Given the description of an element on the screen output the (x, y) to click on. 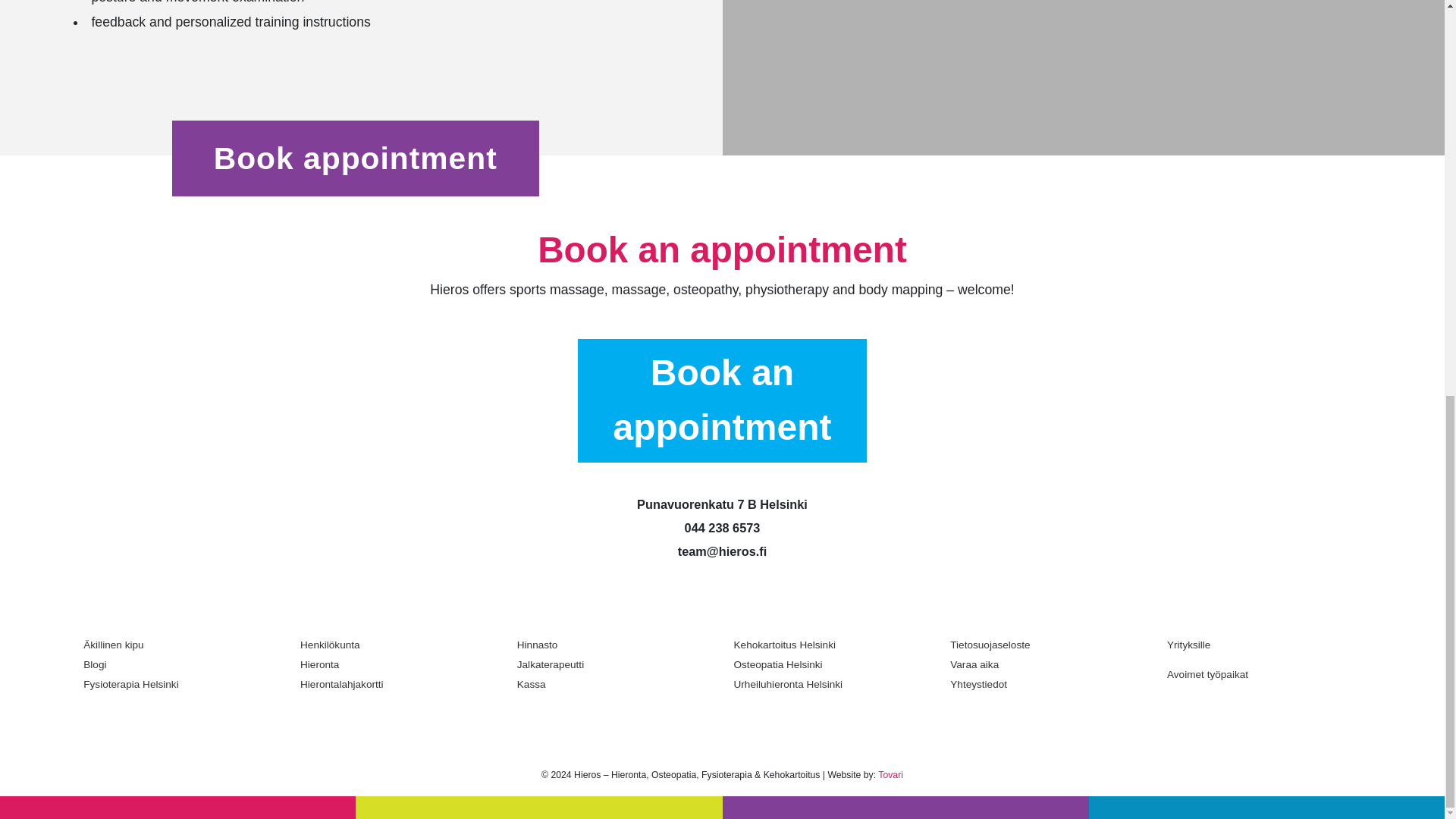
Fysioterapia Helsinki (180, 684)
Kassa (613, 684)
Varaa aika (1047, 664)
Osteopatia Helsinki (830, 664)
Yrityksille (1264, 650)
Tietosuojaseloste (1047, 645)
Yhteystiedot (1047, 684)
Hinnasto (613, 645)
Marketing agency Tovari (889, 774)
Jalkaterapeutti (613, 664)
